Given the description of an element on the screen output the (x, y) to click on. 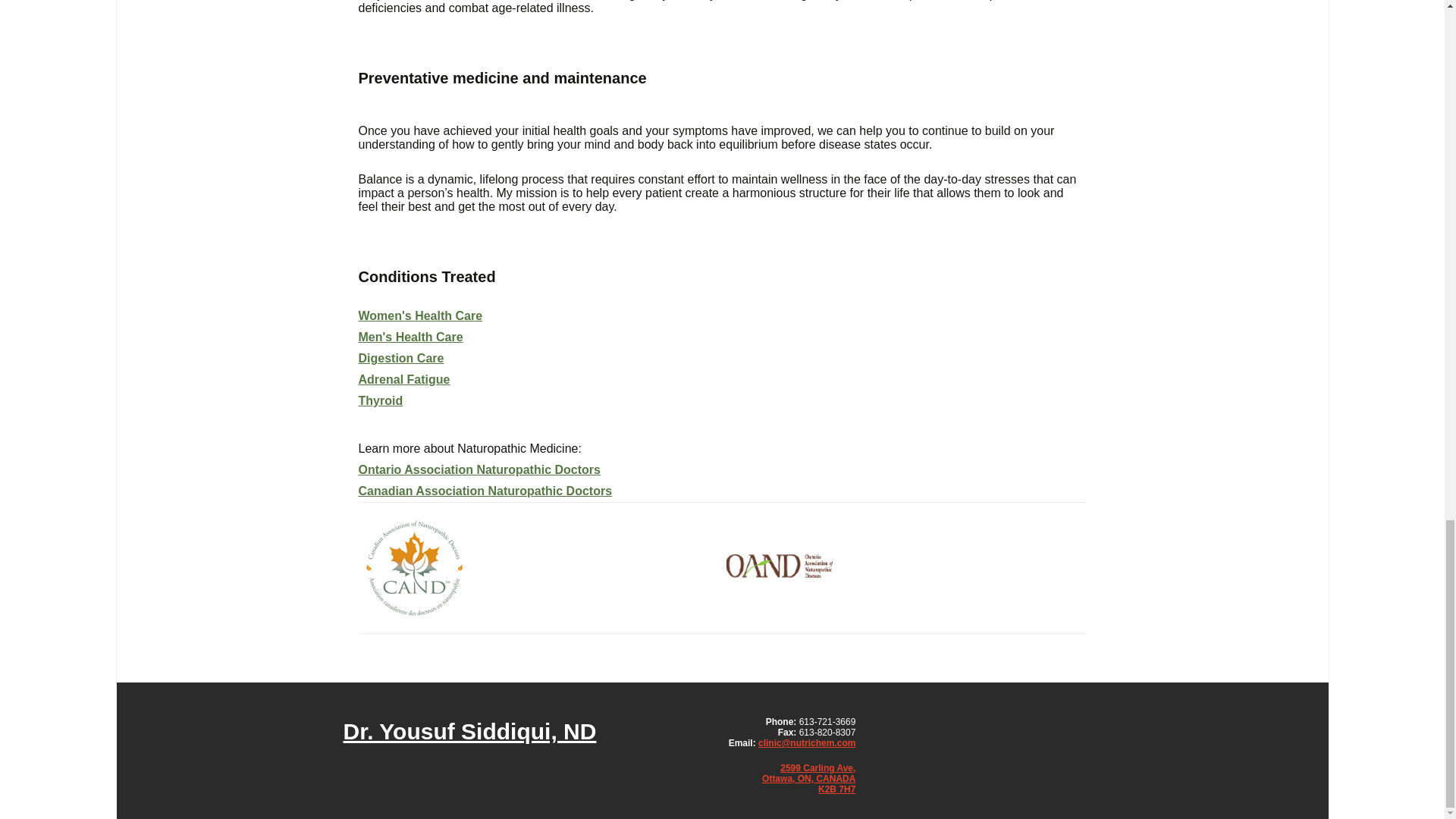
Women's Health Care (419, 315)
Dr. Yousuf Siddiqui, ND (468, 731)
Ottawa, ON, CANADA (808, 778)
Ontario Association Naturopathic Doctors (478, 469)
K2B 7H7 (837, 788)
Digestion Care (401, 358)
Canadian Association of Naturopathic Doctors (414, 567)
Thyroid (380, 400)
Ontario Association Naturopathic Doctors (778, 567)
2599 Carling Ave, (818, 767)
Canadian Association Naturopathic Doctors (484, 490)
Adrenal Fatigue (403, 379)
Men's Health Care (410, 336)
